Given the description of an element on the screen output the (x, y) to click on. 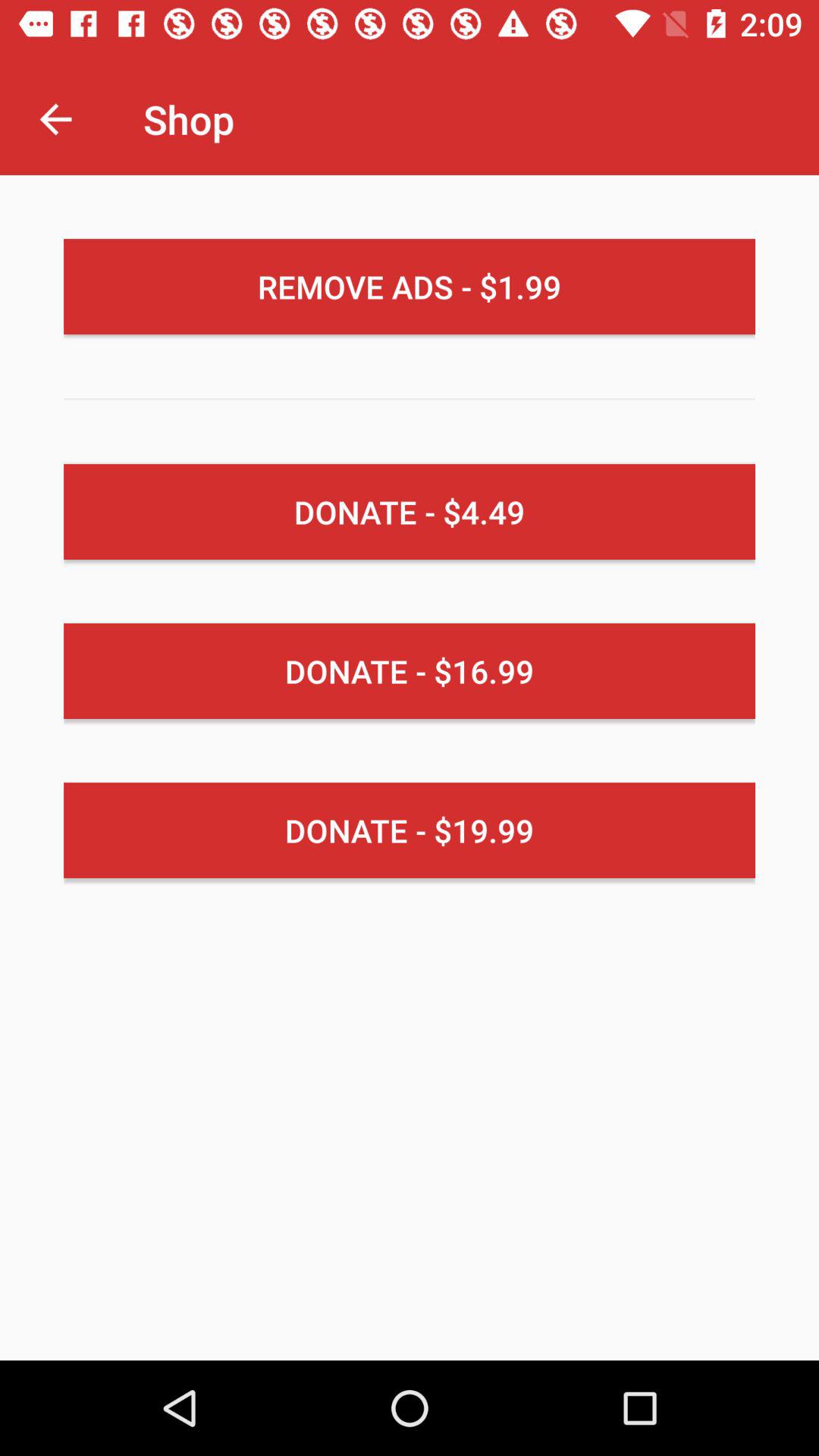
swipe to remove ads 1 (409, 286)
